Given the description of an element on the screen output the (x, y) to click on. 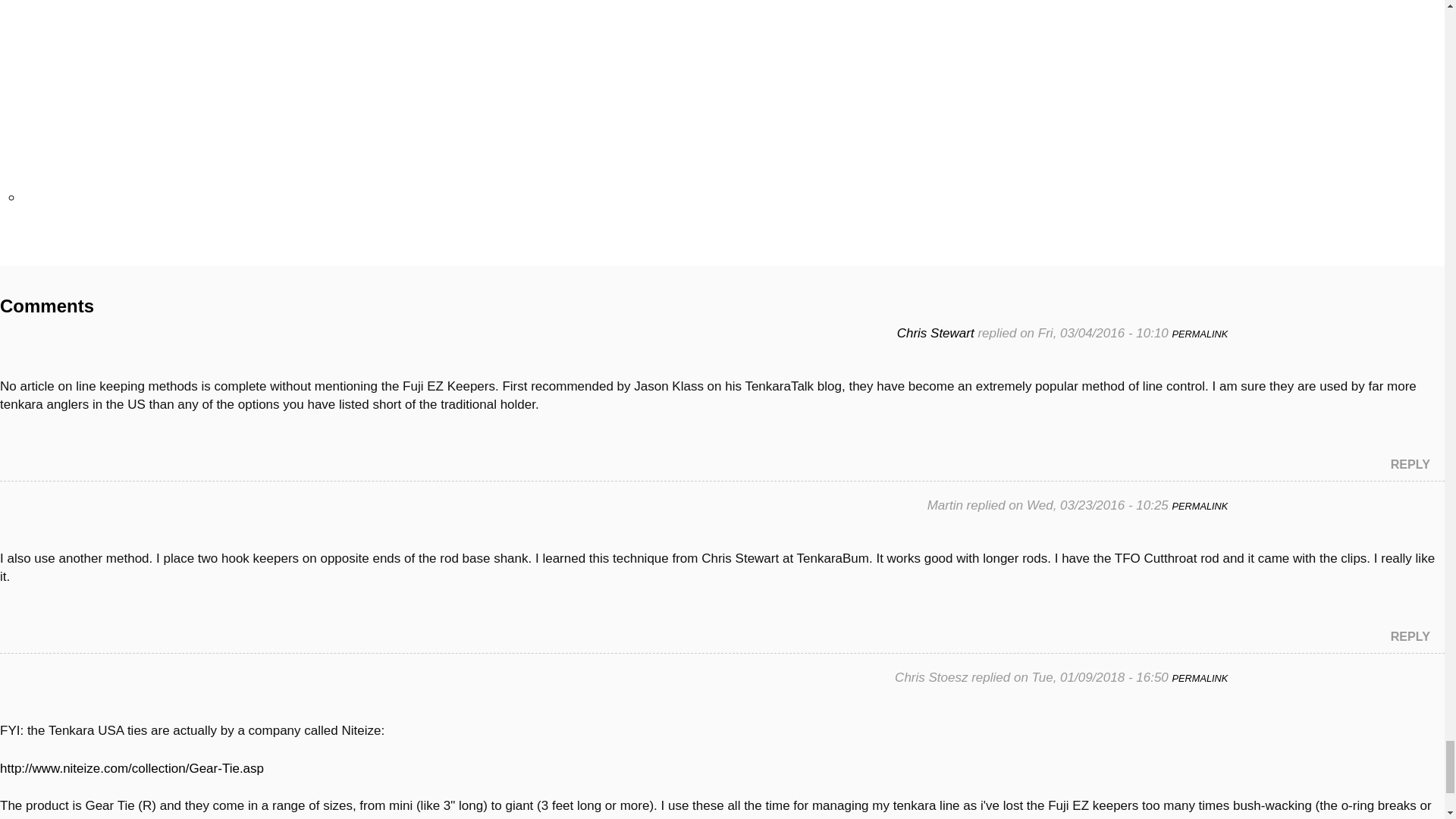
REPLY (1409, 635)
Chris Stewart (935, 332)
PERMALINK (1200, 677)
PERMALINK (1200, 505)
PERMALINK (1200, 333)
REPLY (1409, 463)
Share your thoughts and opinions related to this posting. (50, 256)
ADD NEW COMMENT (50, 256)
